Given the description of an element on the screen output the (x, y) to click on. 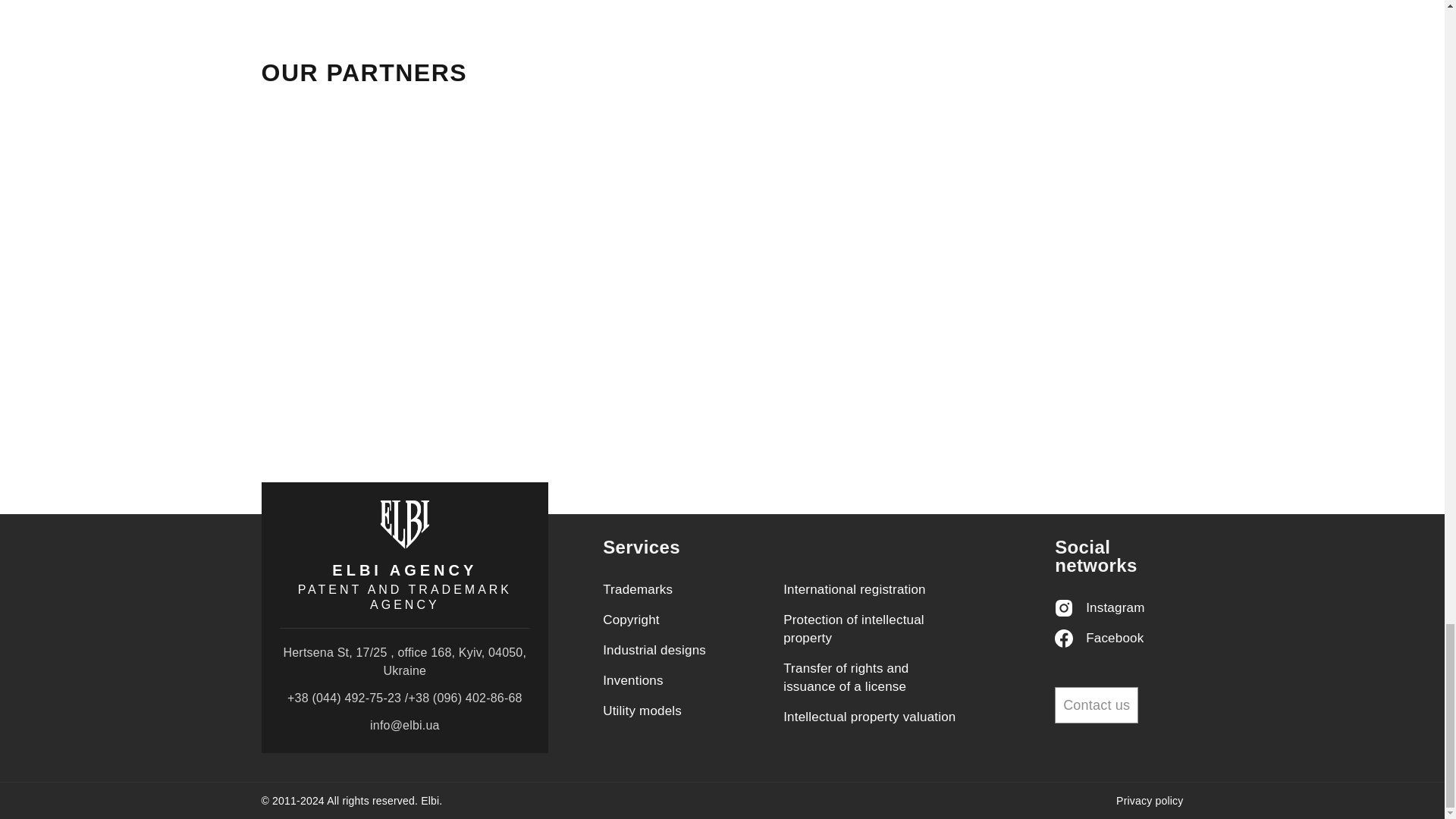
We are on Instagram (1118, 607)
We are on Facebook (1118, 638)
